Given the description of an element on the screen output the (x, y) to click on. 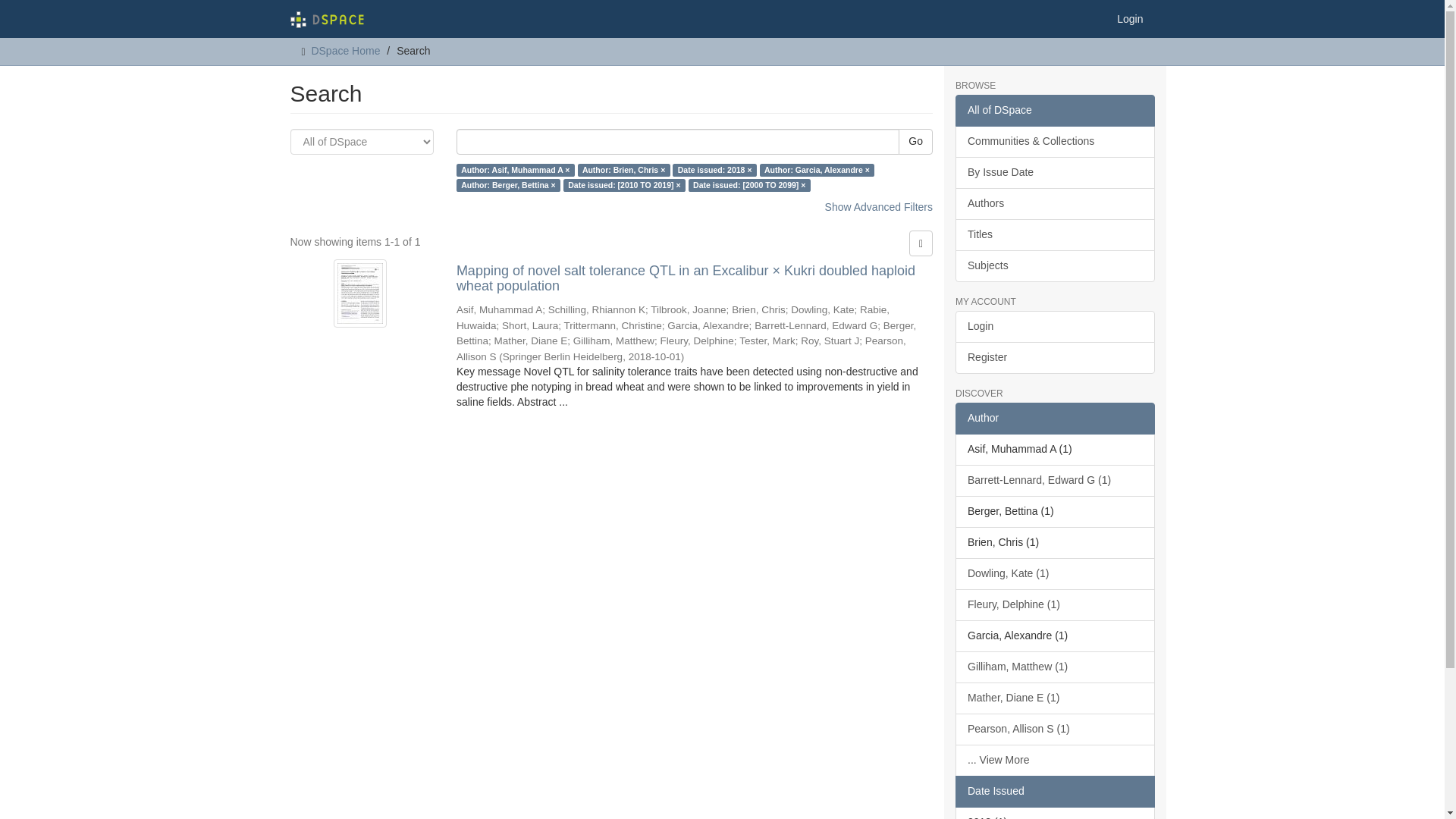
Go (915, 141)
Show Advanced Filters (879, 206)
Login (1129, 18)
DSpace Home (345, 50)
